Given the description of an element on the screen output the (x, y) to click on. 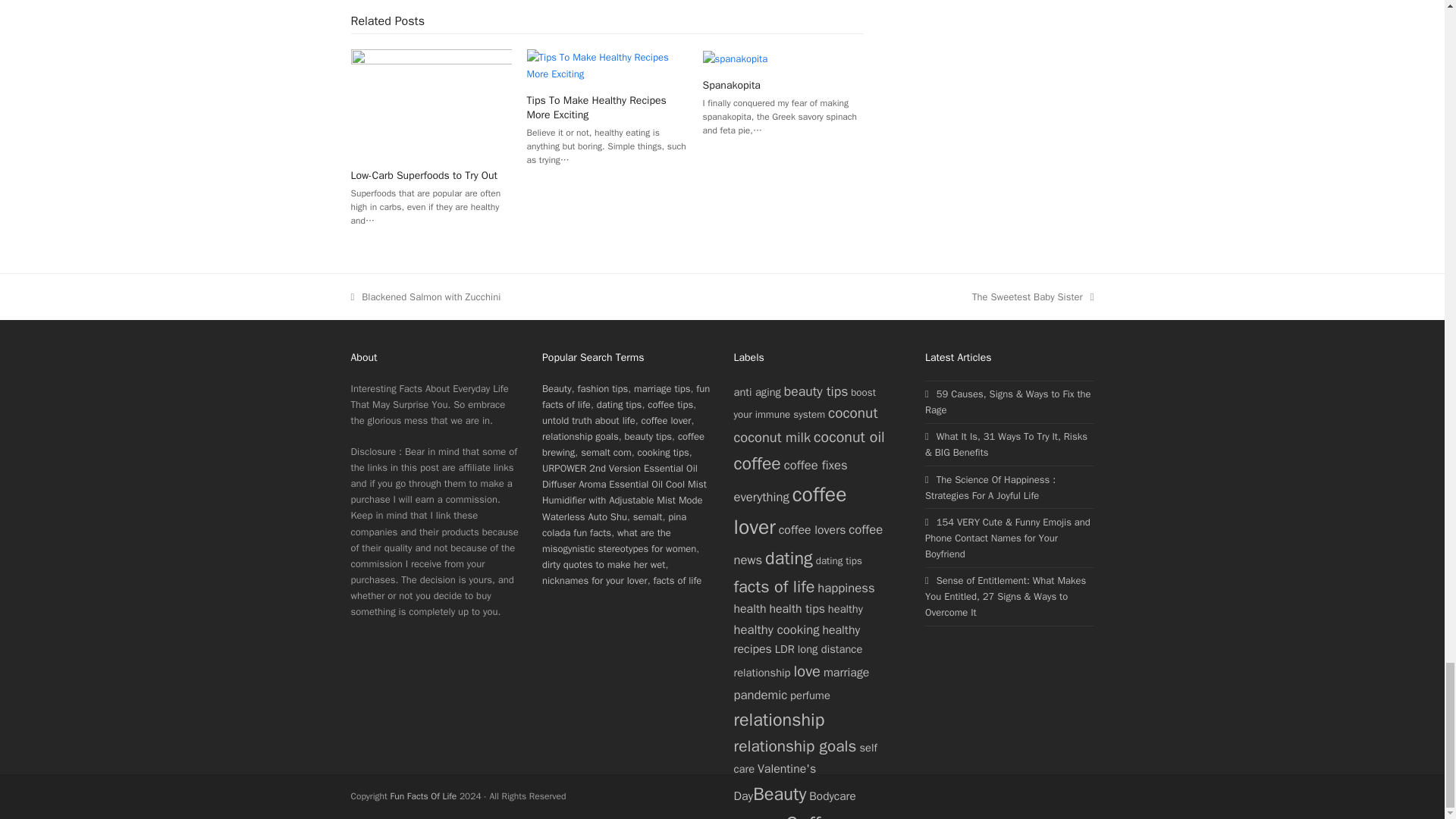
Low-Carb Superfoods to Try Out (430, 101)
Tips To Make Healthy Recipes More Exciting (607, 64)
Spanakopita (735, 56)
